Given the description of an element on the screen output the (x, y) to click on. 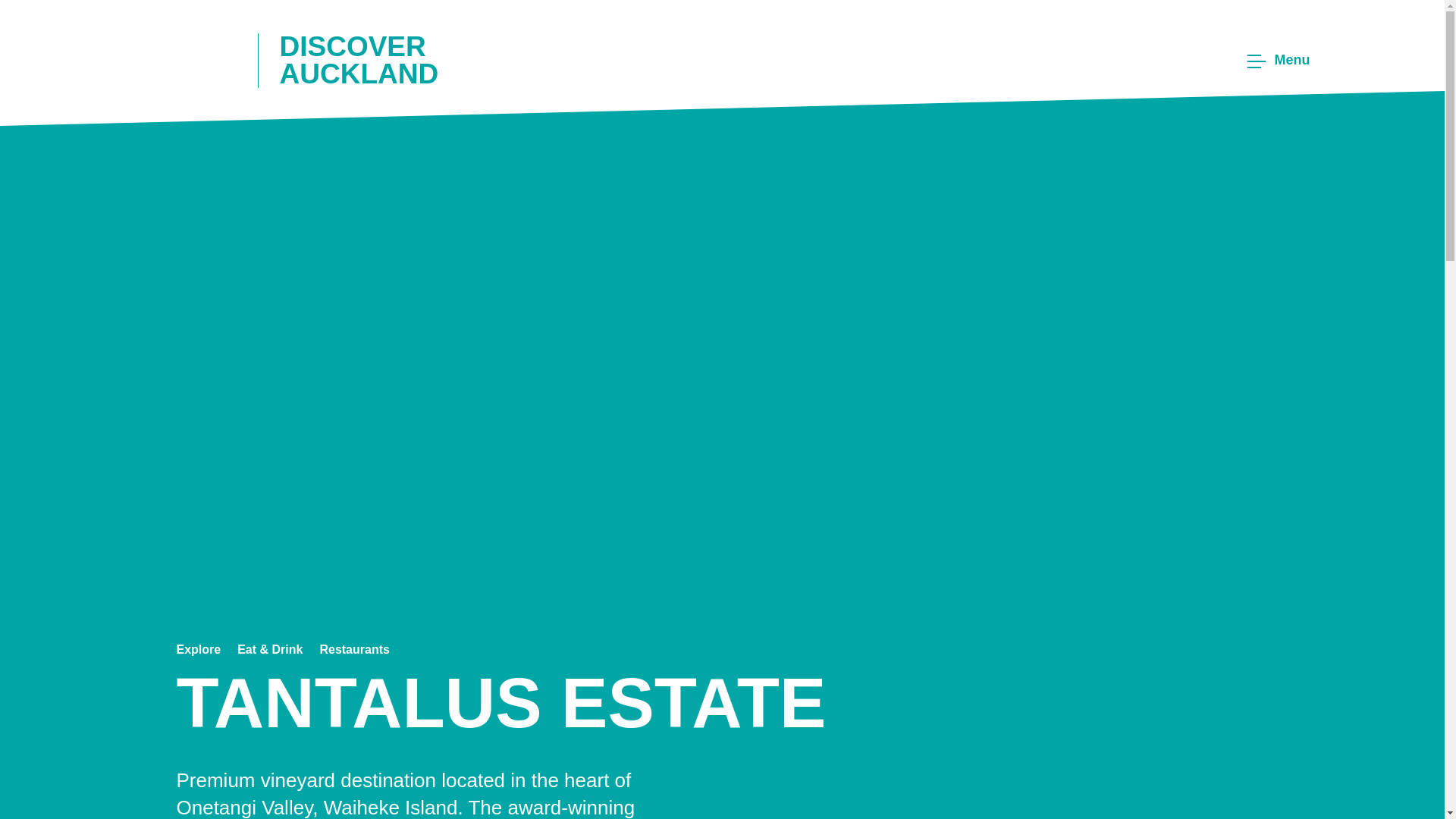
Explore (198, 649)
Restaurants (353, 649)
Menu (1275, 60)
DISCOVER AUCKLAND (330, 60)
